Given the description of an element on the screen output the (x, y) to click on. 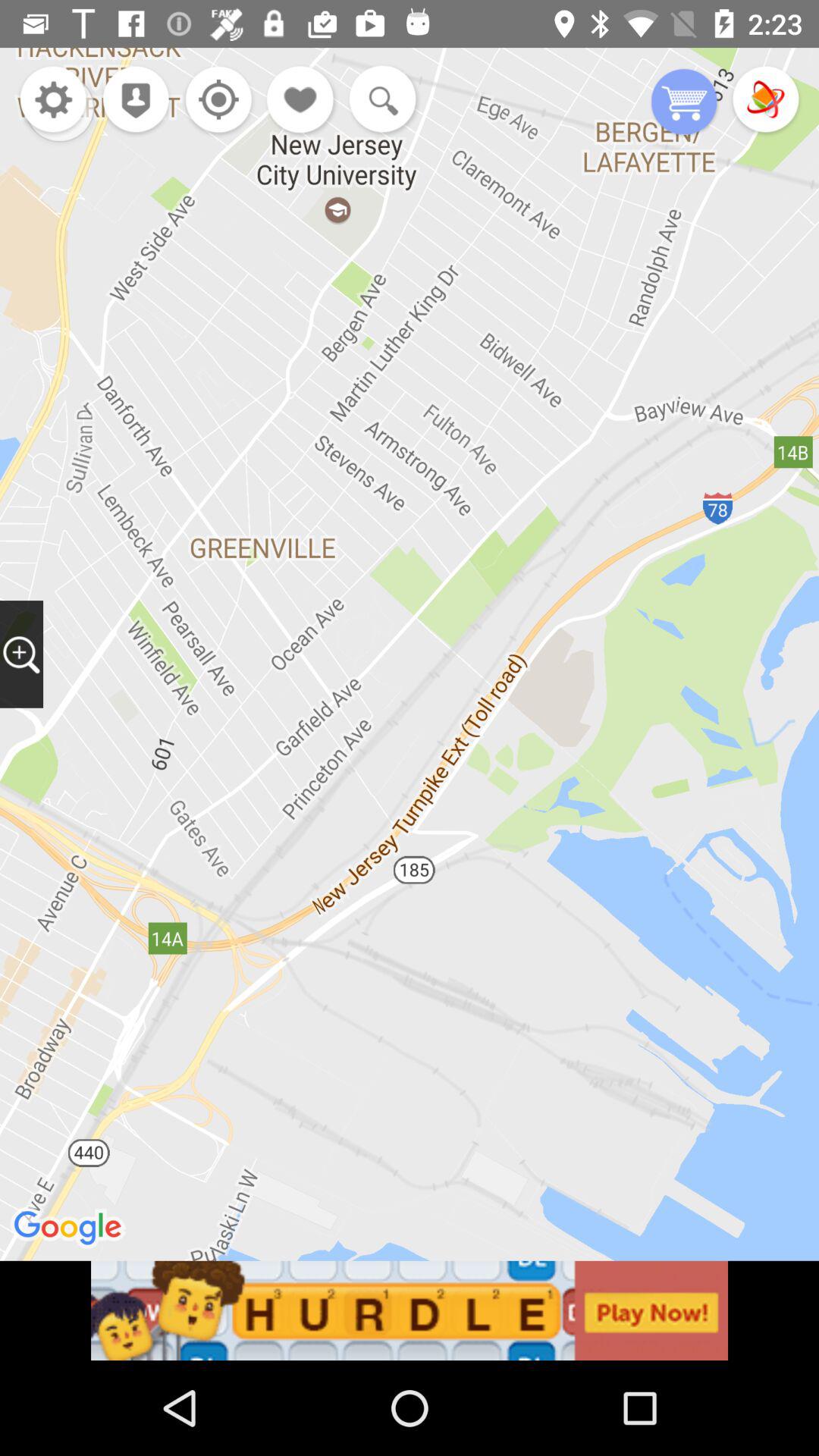
search location (21, 654)
